Given the description of an element on the screen output the (x, y) to click on. 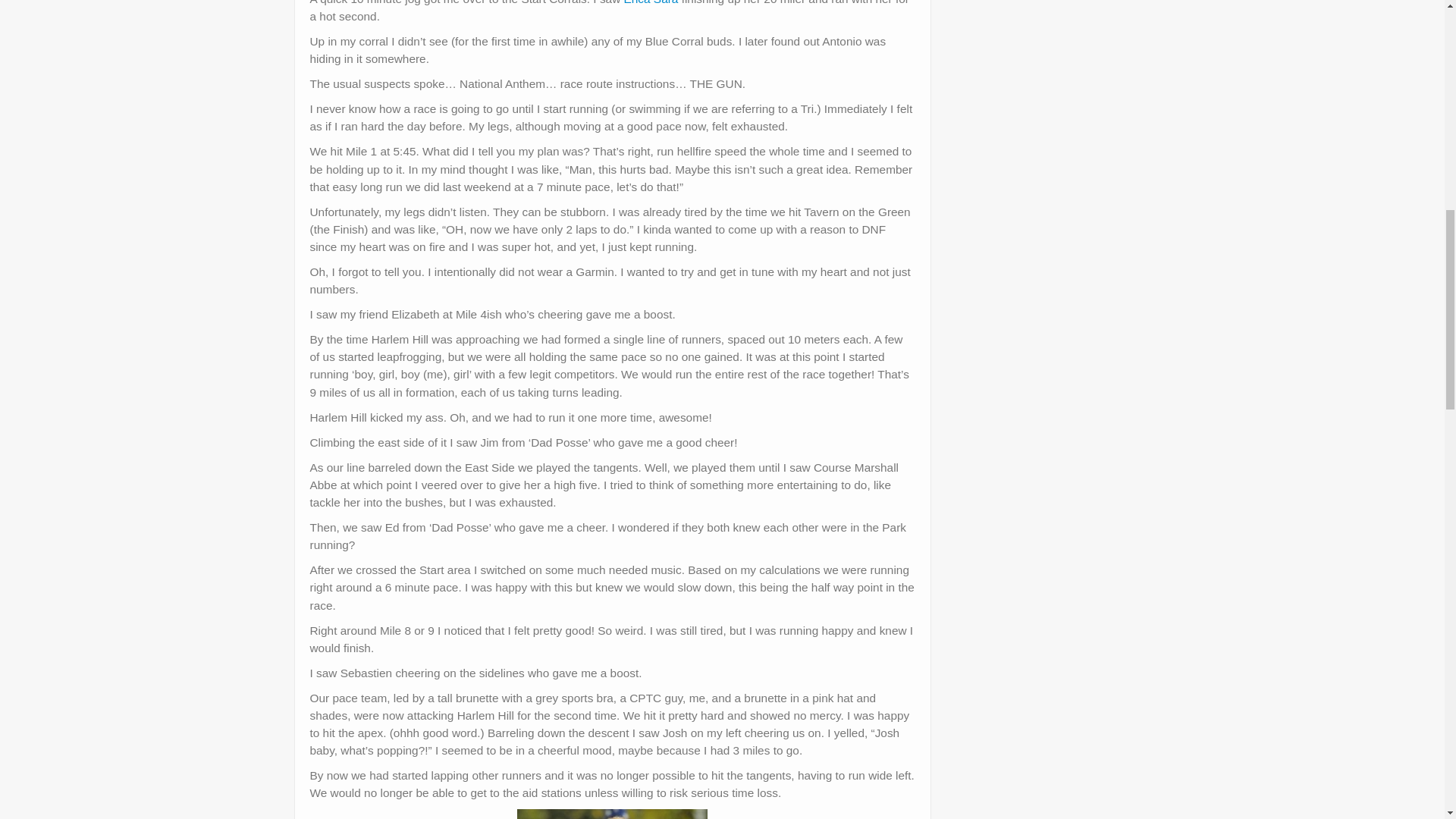
Erica Sara (651, 2)
